Given the description of an element on the screen output the (x, y) to click on. 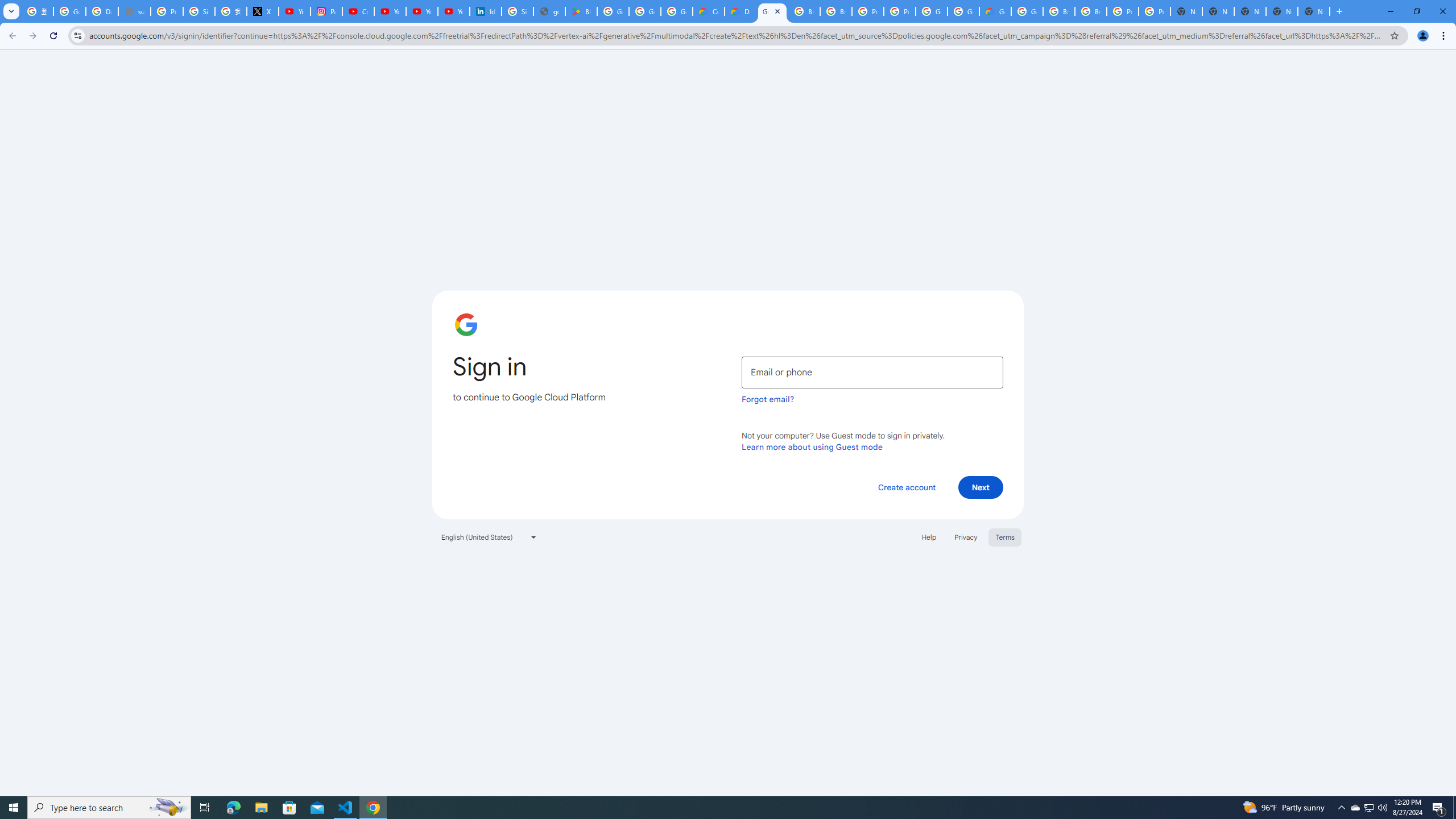
YouTube Content Monetization Policies - How YouTube Works (294, 11)
Browse Chrome as a guest - Computer - Google Chrome Help (1059, 11)
Bluey: Let's Play! - Apps on Google Play (581, 11)
Google Cloud Platform (772, 11)
YouTube Culture & Trends - YouTube Top 10, 2021 (453, 11)
